Given the description of an element on the screen output the (x, y) to click on. 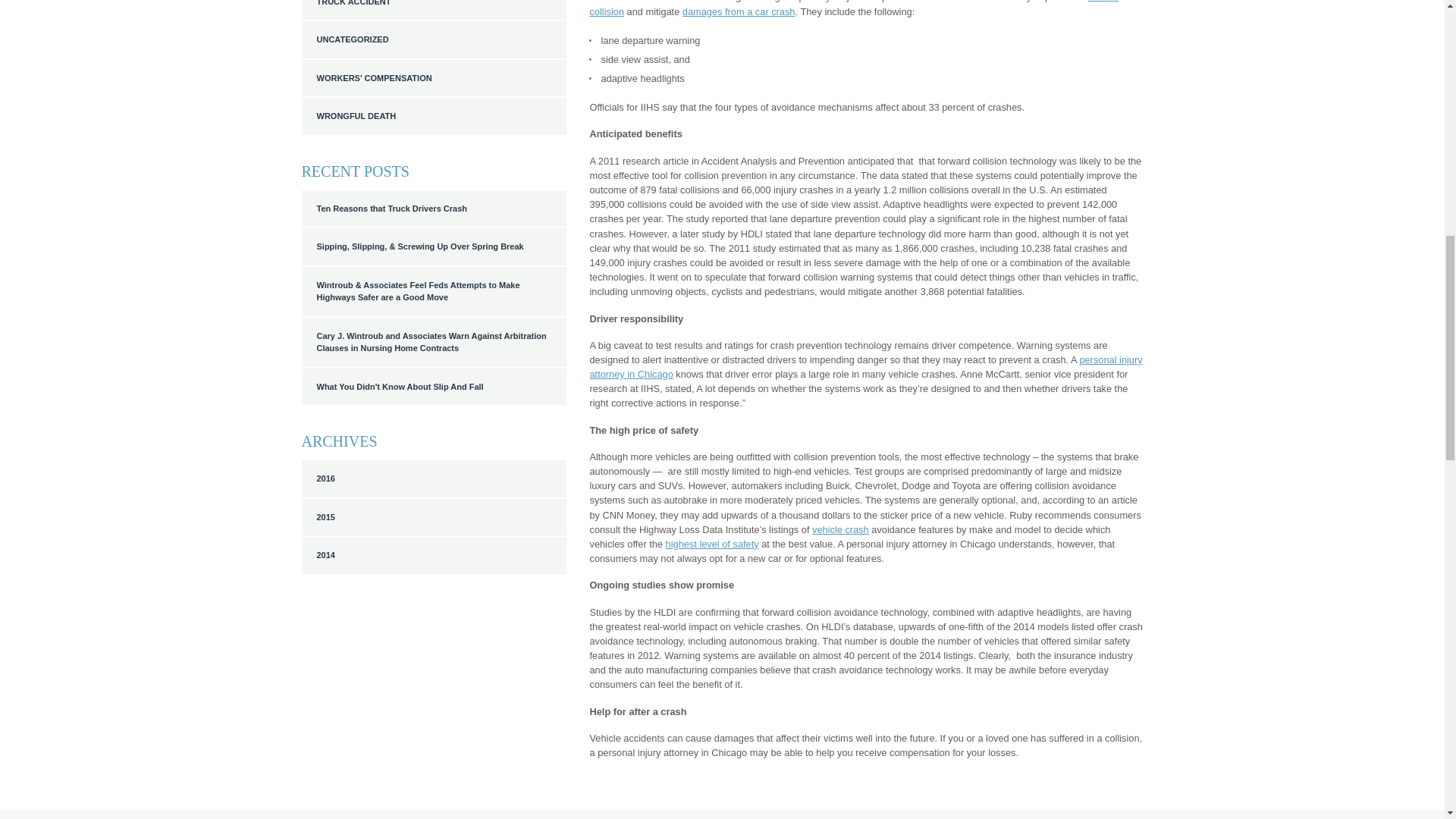
WRONGFUL DEATH (434, 116)
TRUCK ACCIDENT (434, 6)
Ten Reasons that Truck Drivers Crash (434, 209)
UNCATEGORIZED (434, 39)
WORKERS' COMPENSATION (434, 78)
